Given the description of an element on the screen output the (x, y) to click on. 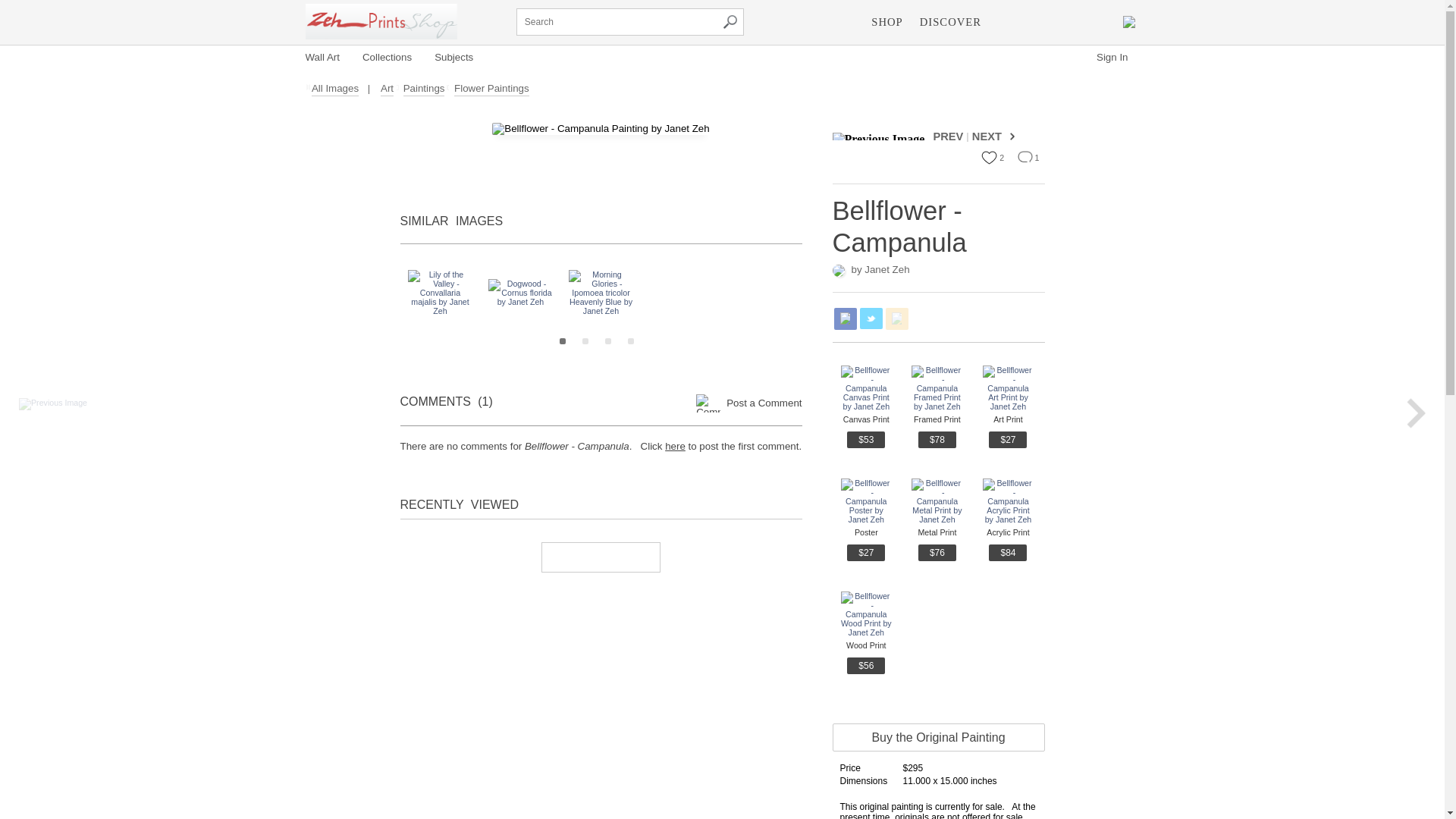
Janet Zeh - Artist Website (380, 21)
DISCOVER (950, 22)
Share Product on Twitter (871, 318)
Bellflower - Campanula Canvas Print by Janet Zeh (866, 388)
Share Product on Pinterest (896, 318)
Favorite (989, 157)
Share Product on Facebook (845, 318)
Bellflower - Campanula Poster by Janet Zeh (866, 501)
Bellflower - Campanula Metal Print by Janet Zeh (936, 501)
Search (729, 21)
Bellflower - Campanula Painting by Janet Zeh (600, 128)
SHOP (886, 22)
Previous Image (881, 136)
Bellflower - Campanula Art Print by Janet Zeh (1007, 388)
Bellflower - Campanula Framed Print by Janet Zeh (936, 388)
